Given the description of an element on the screen output the (x, y) to click on. 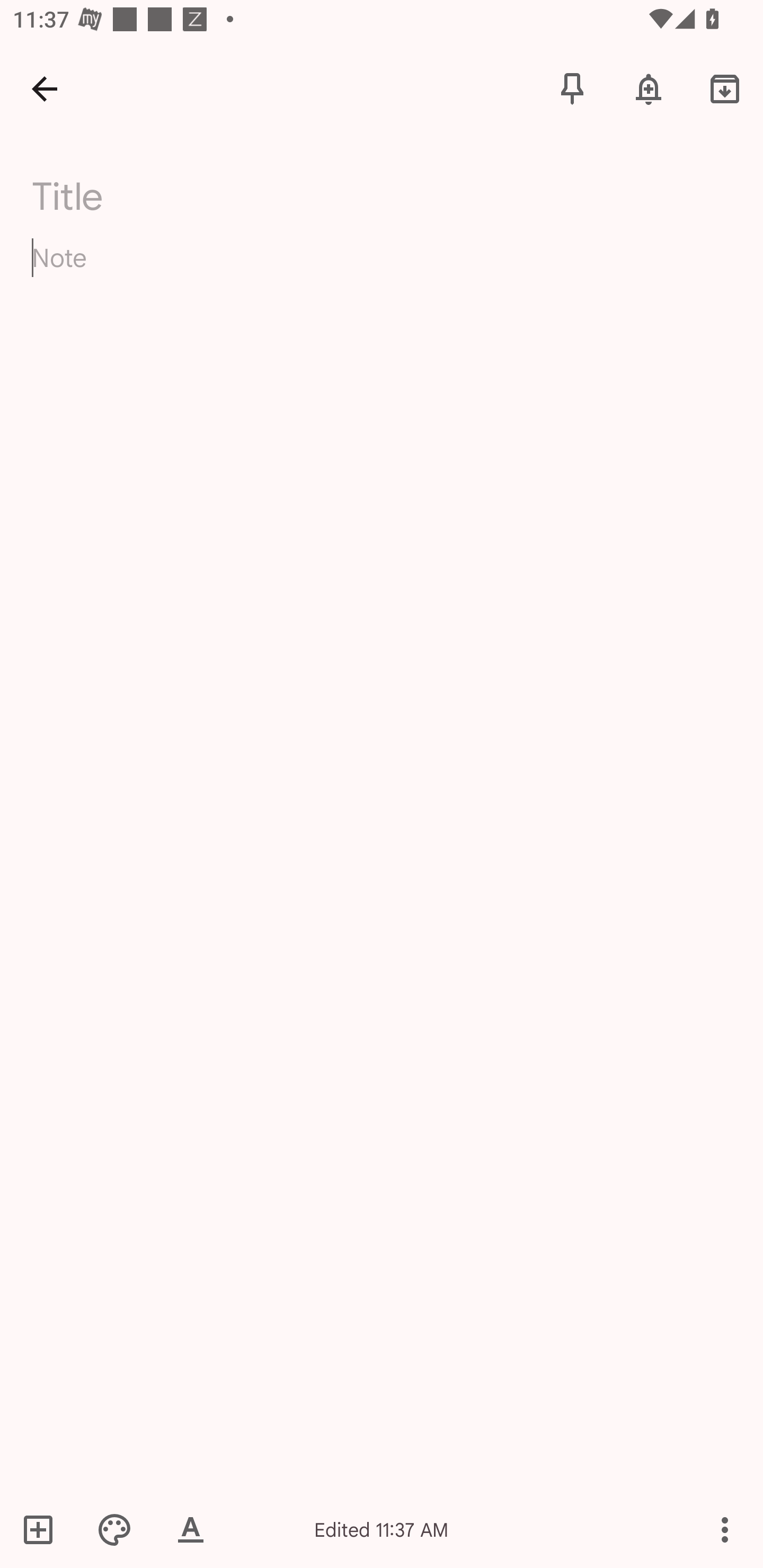
Navigate up (44, 88)
Pin (572, 88)
Reminder (648, 88)
Archive (724, 88)
.  (193, 192)
Note (381, 273)
New list (44, 1529)
Theme (114, 1529)
Show formatting controls (190, 1529)
Action (724, 1529)
Link preview popout (726, 1552)
